Given the description of an element on the screen output the (x, y) to click on. 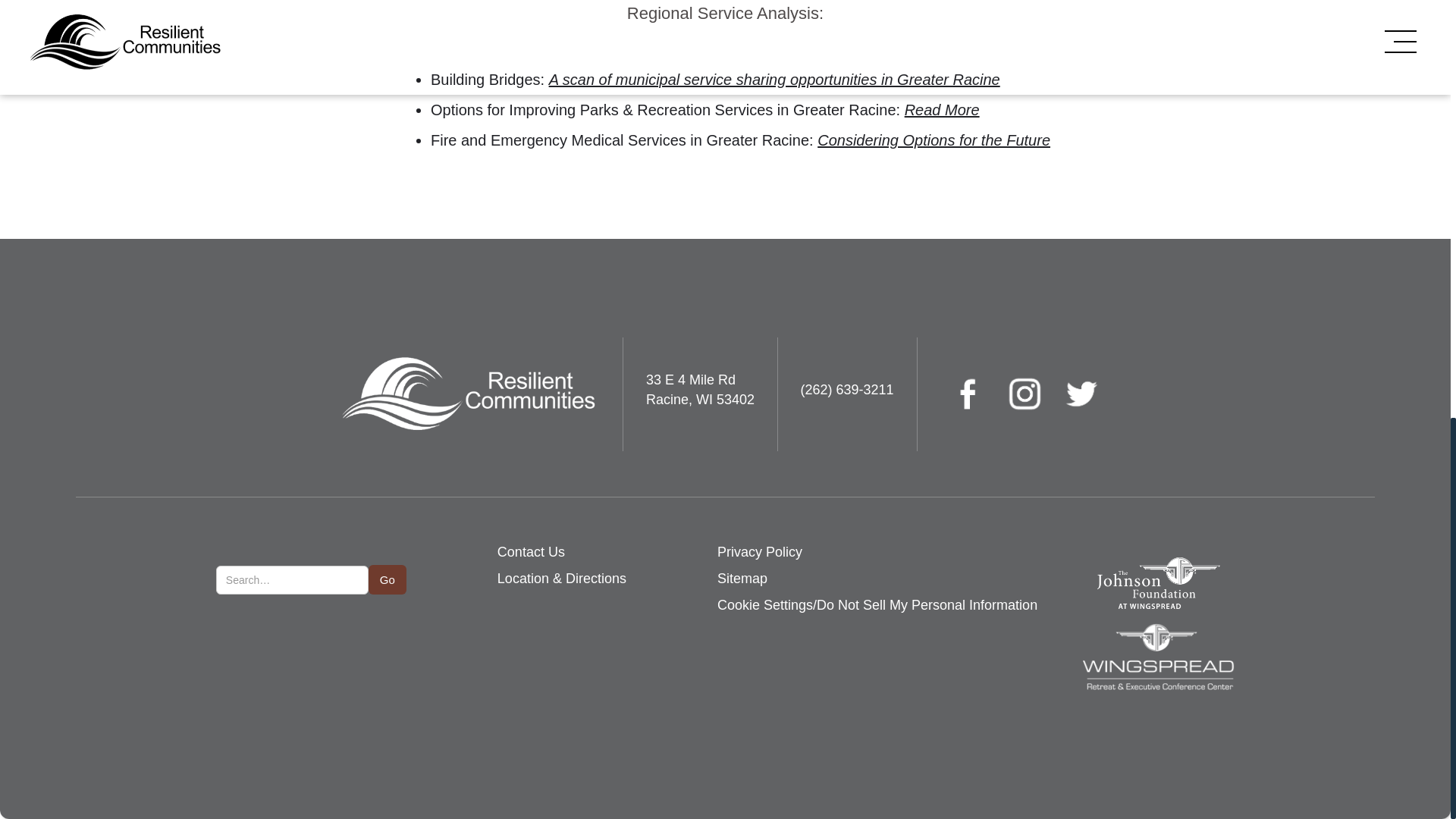
Go (387, 579)
Go (387, 579)
Go (387, 579)
Contact Us (530, 551)
Privacy Policy (759, 551)
Sitemap (742, 578)
